Given the description of an element on the screen output the (x, y) to click on. 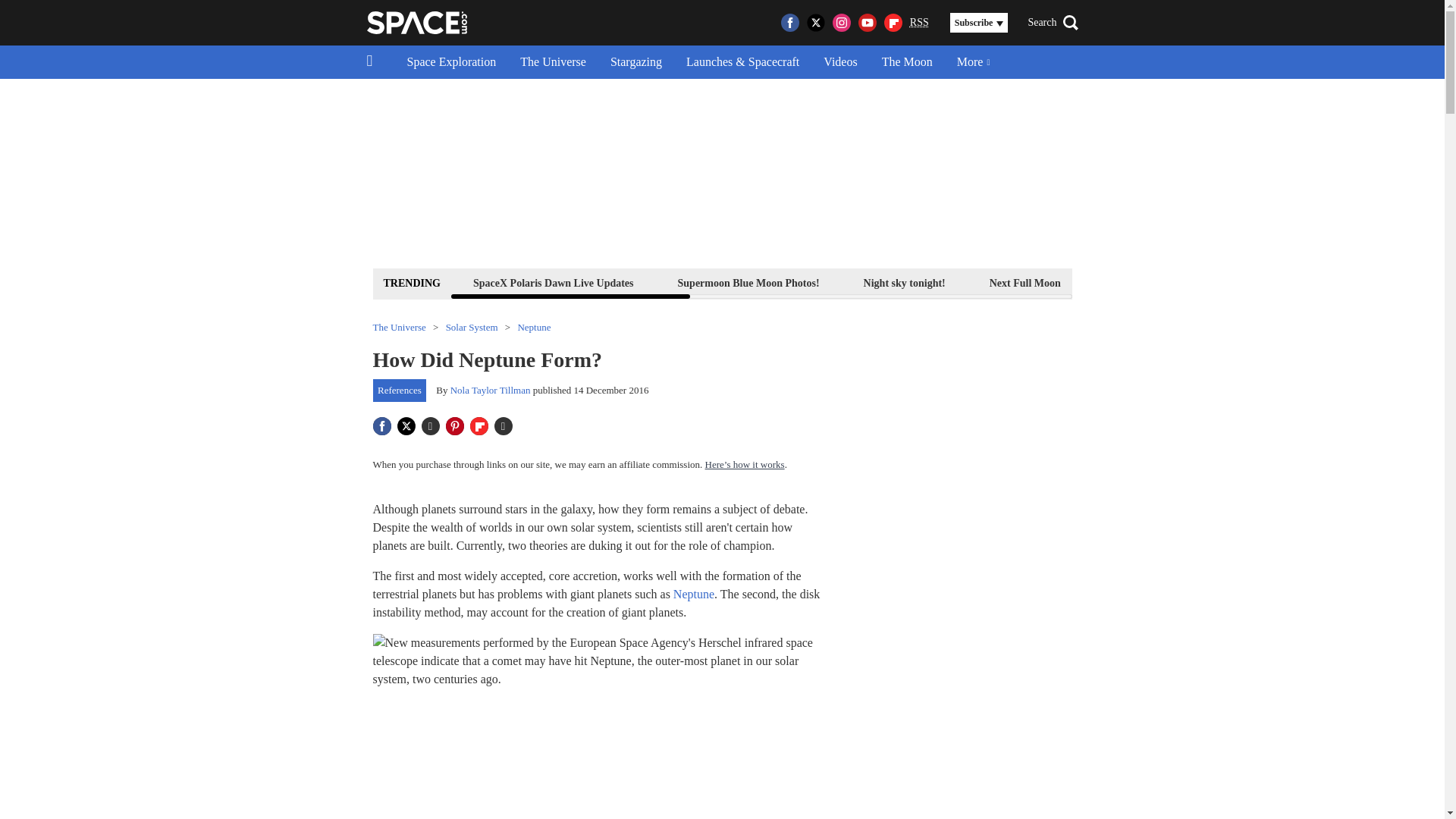
Supermoon Blue Moon Photos! (748, 282)
Best Telescopes (1139, 282)
SpaceX Polaris Dawn Live Updates (553, 282)
Really Simple Syndication (919, 21)
Space Exploration (451, 61)
Next Full Moon (1024, 282)
Stargazing (636, 61)
Best Binoculars (1253, 282)
Best Star Projectors (1378, 282)
RSS (919, 22)
